Given the description of an element on the screen output the (x, y) to click on. 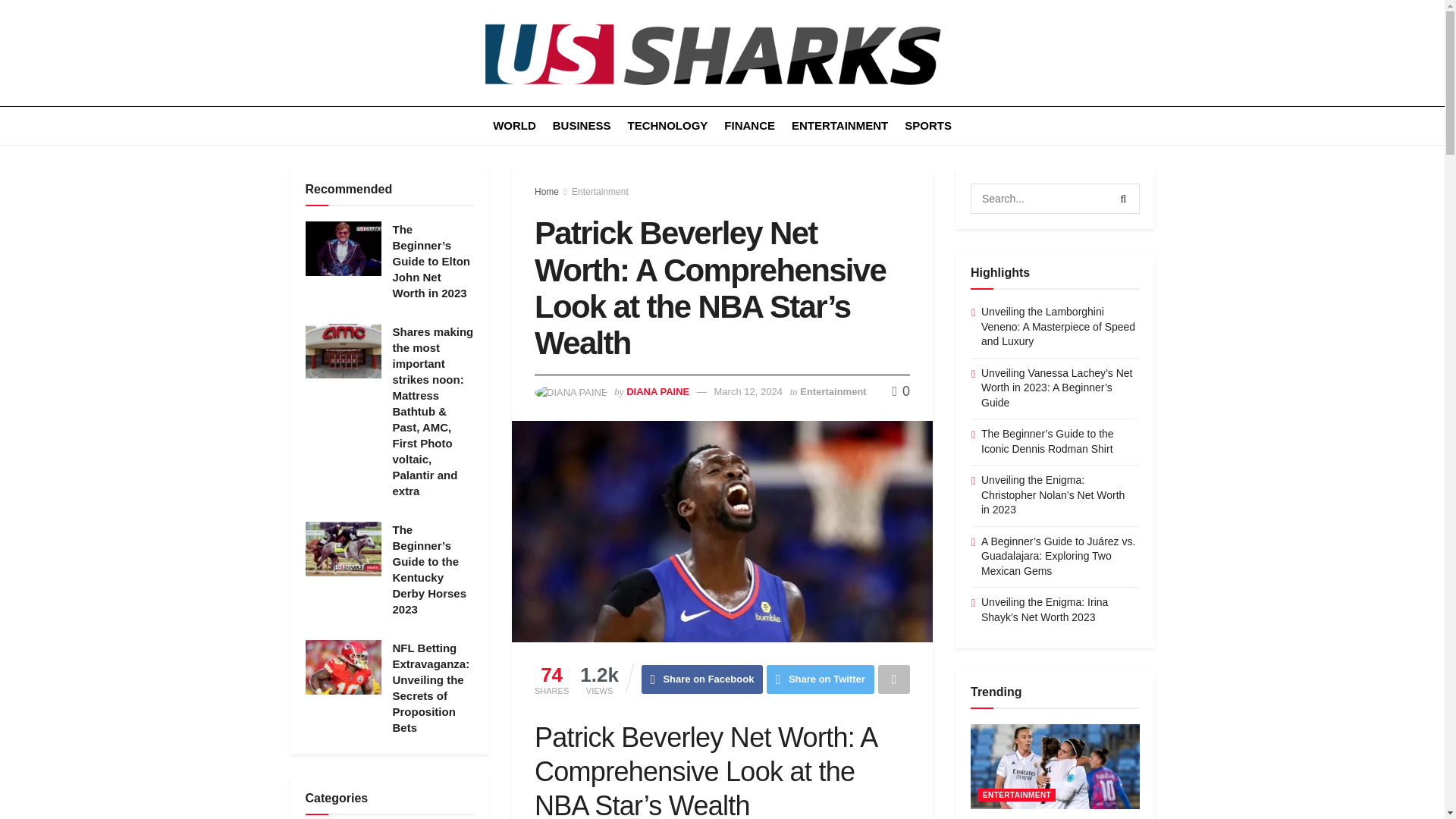
Entertainment (600, 191)
BUSINESS (582, 125)
DIANA PAINE (657, 391)
FINANCE (748, 125)
TECHNOLOGY (667, 125)
0 (900, 391)
SPORTS (928, 125)
Entertainment (832, 391)
Home (546, 191)
Share on Facebook (702, 679)
